Given the description of an element on the screen output the (x, y) to click on. 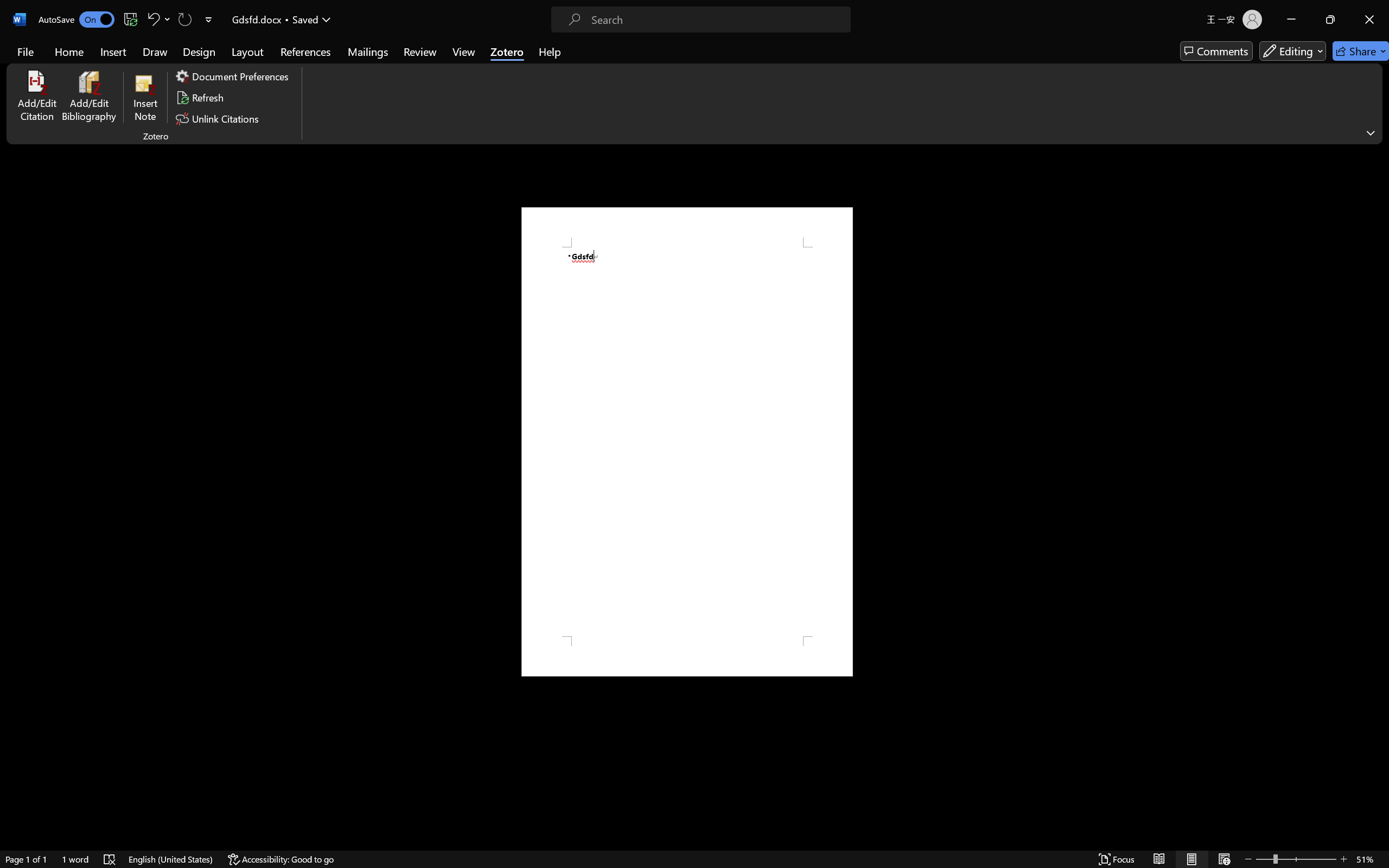
Float In (240, 60)
Desaturate (906, 60)
